Given the description of an element on the screen output the (x, y) to click on. 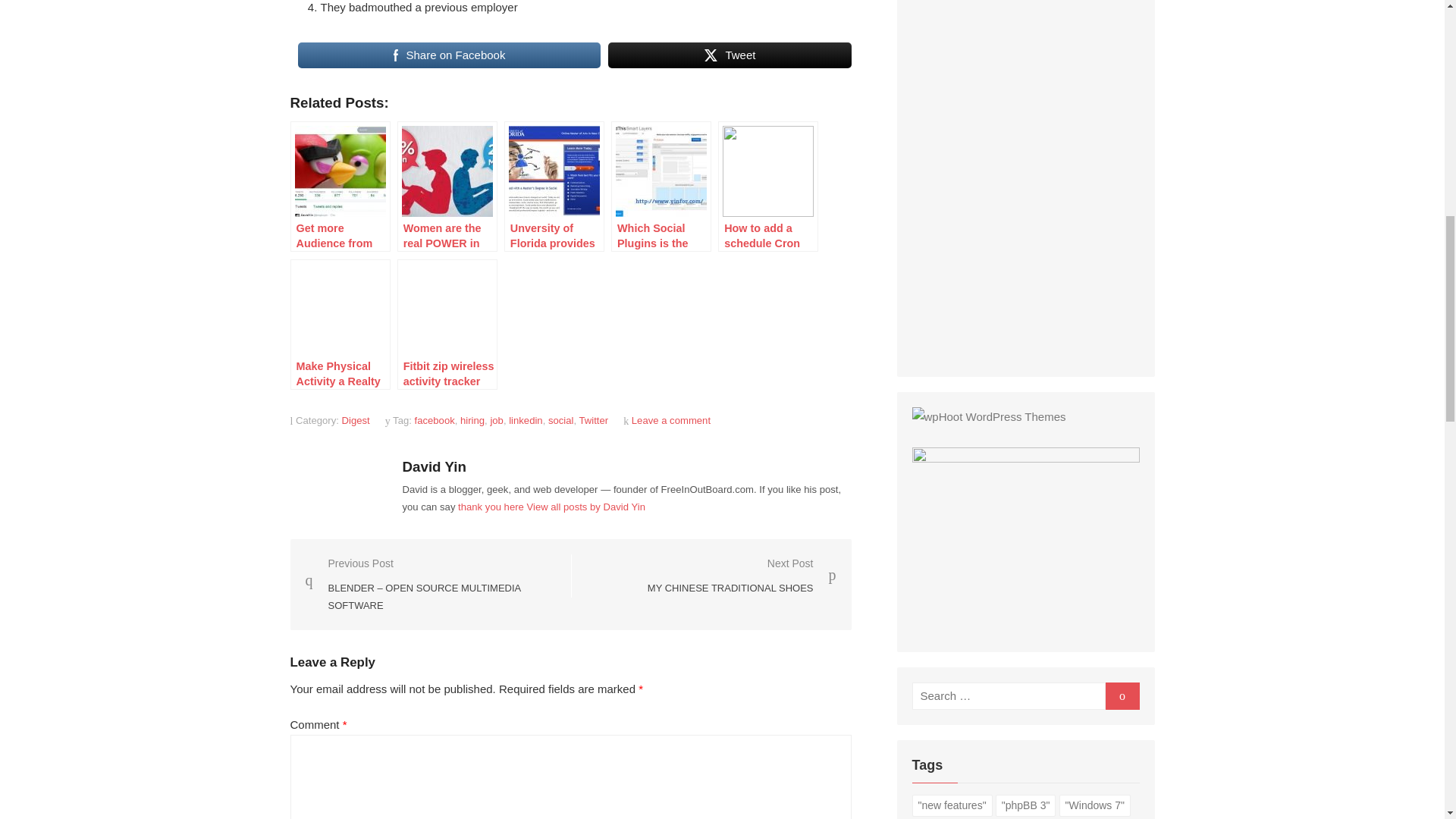
job (496, 419)
View all posts by David Yin (585, 506)
facebook (434, 419)
Tweet (729, 54)
Digest (355, 419)
social (560, 419)
thank you here (491, 506)
linkedin (524, 419)
Leave a comment (670, 419)
Twitter (593, 419)
hiring (472, 419)
Share on Facebook (448, 54)
